Given the description of an element on the screen output the (x, y) to click on. 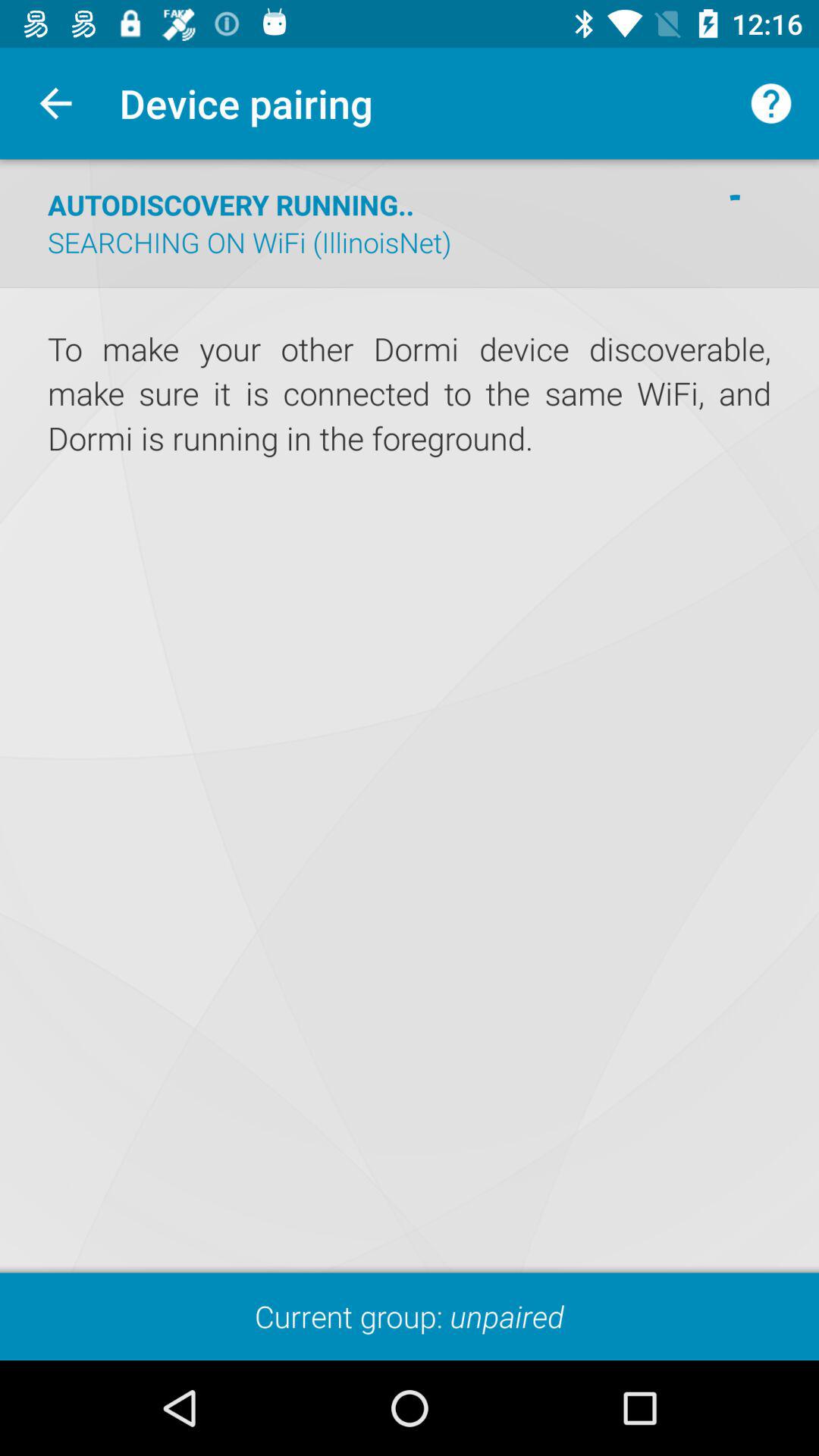
press the item to the right of the searching on wifi icon (736, 223)
